Given the description of an element on the screen output the (x, y) to click on. 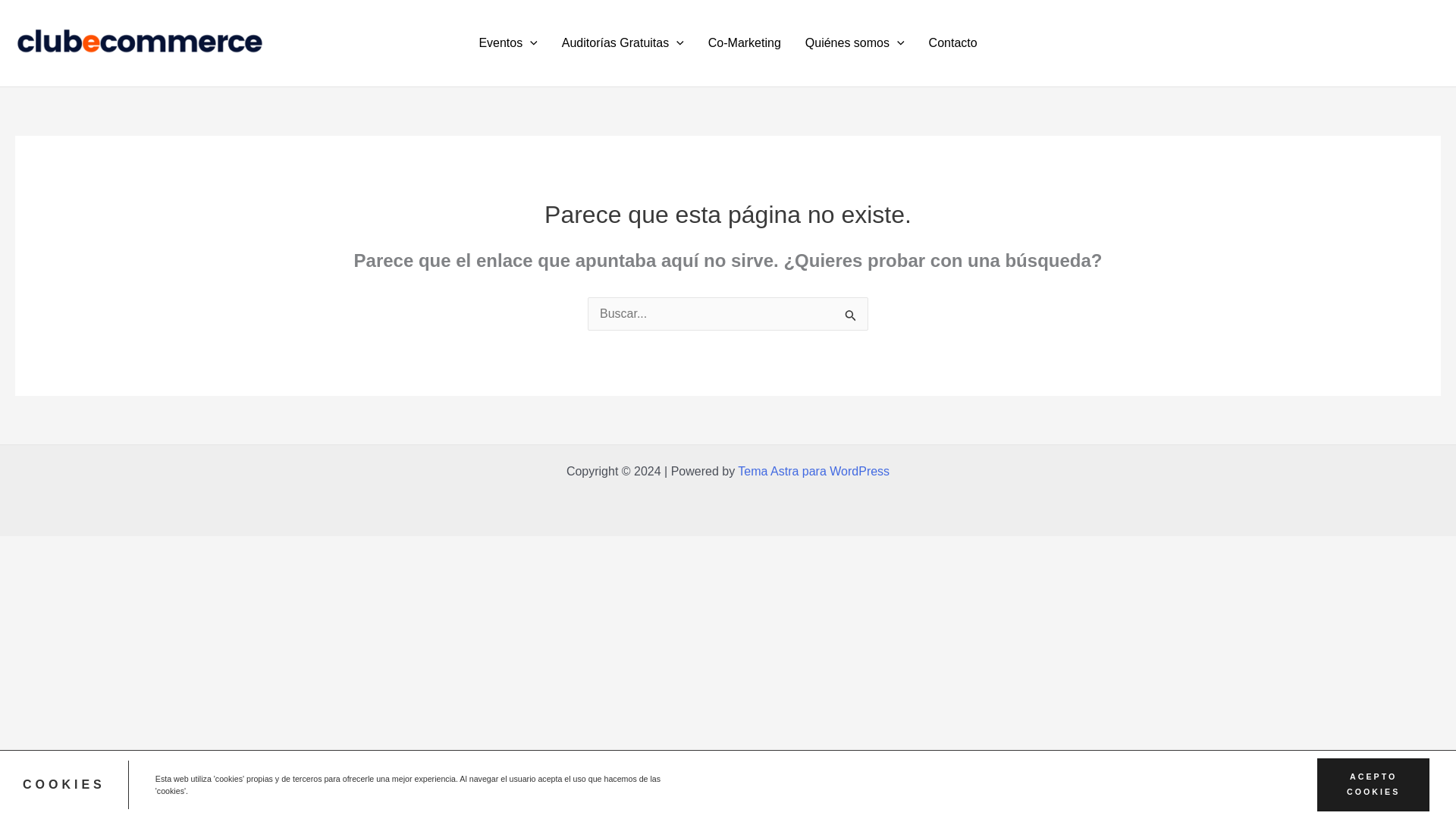
ACEPTO COOKIES (1373, 784)
Contacto (953, 43)
Eventos (506, 43)
Co-Marketing (744, 43)
